Given the description of an element on the screen output the (x, y) to click on. 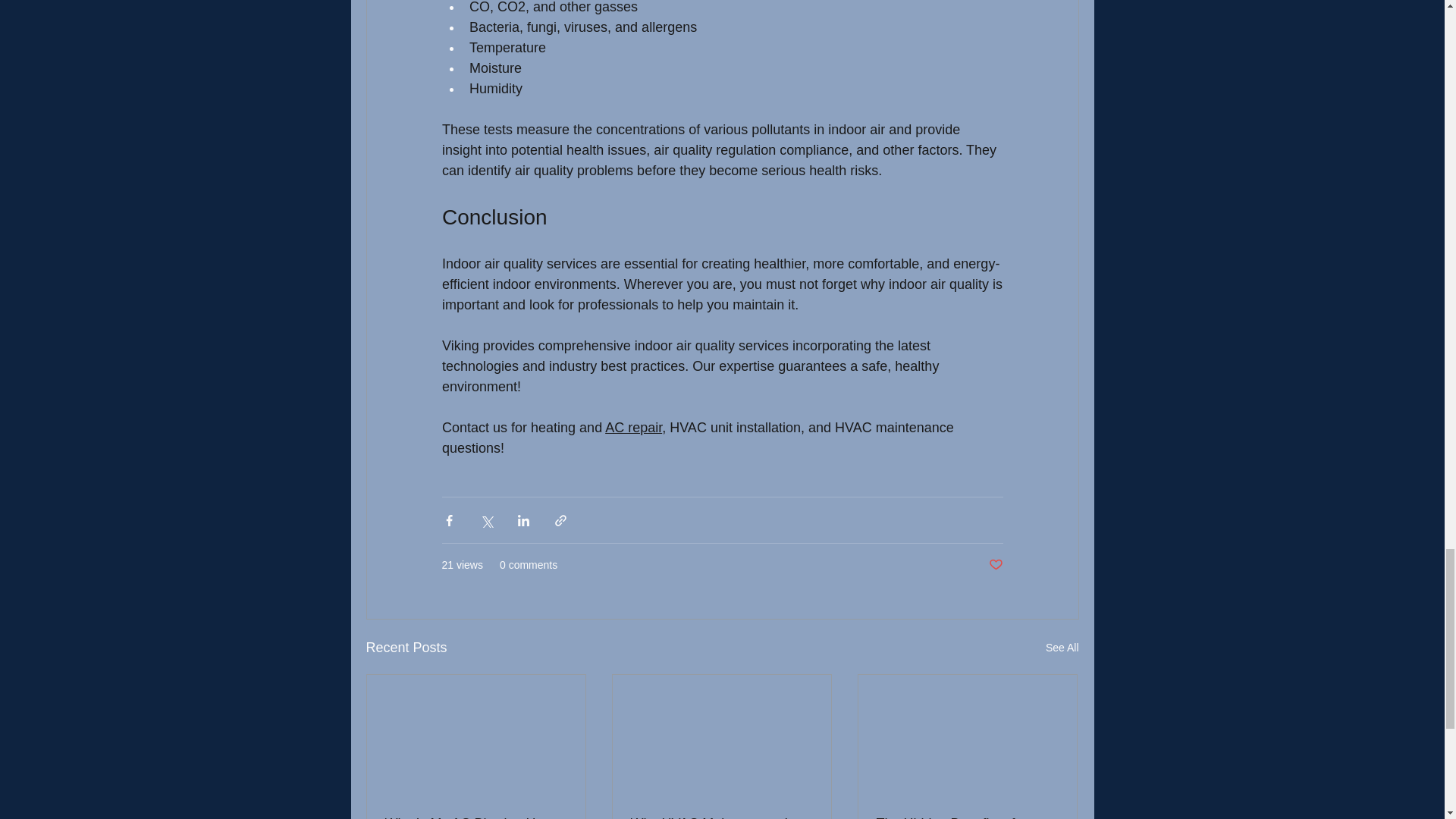
AC repair (633, 427)
See All (1061, 648)
Why HVAC Maintenance Is Important for Energy Efficiency (721, 817)
The Hidden Benefits of Installing a New AC System (967, 817)
Post not marked as liked (995, 565)
Why Is My AC Blowing Hot Air? (476, 817)
